Given the description of an element on the screen output the (x, y) to click on. 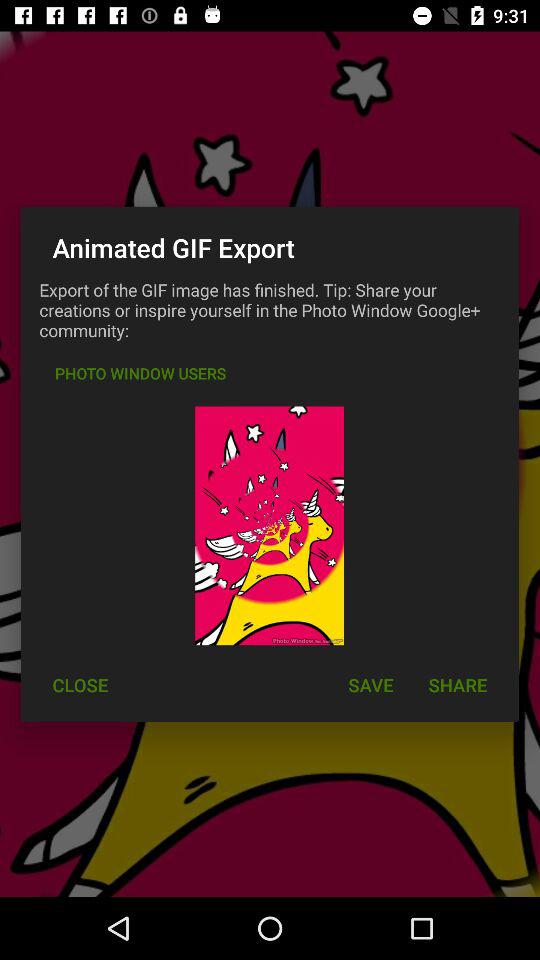
launch item next to the close (370, 684)
